Given the description of an element on the screen output the (x, y) to click on. 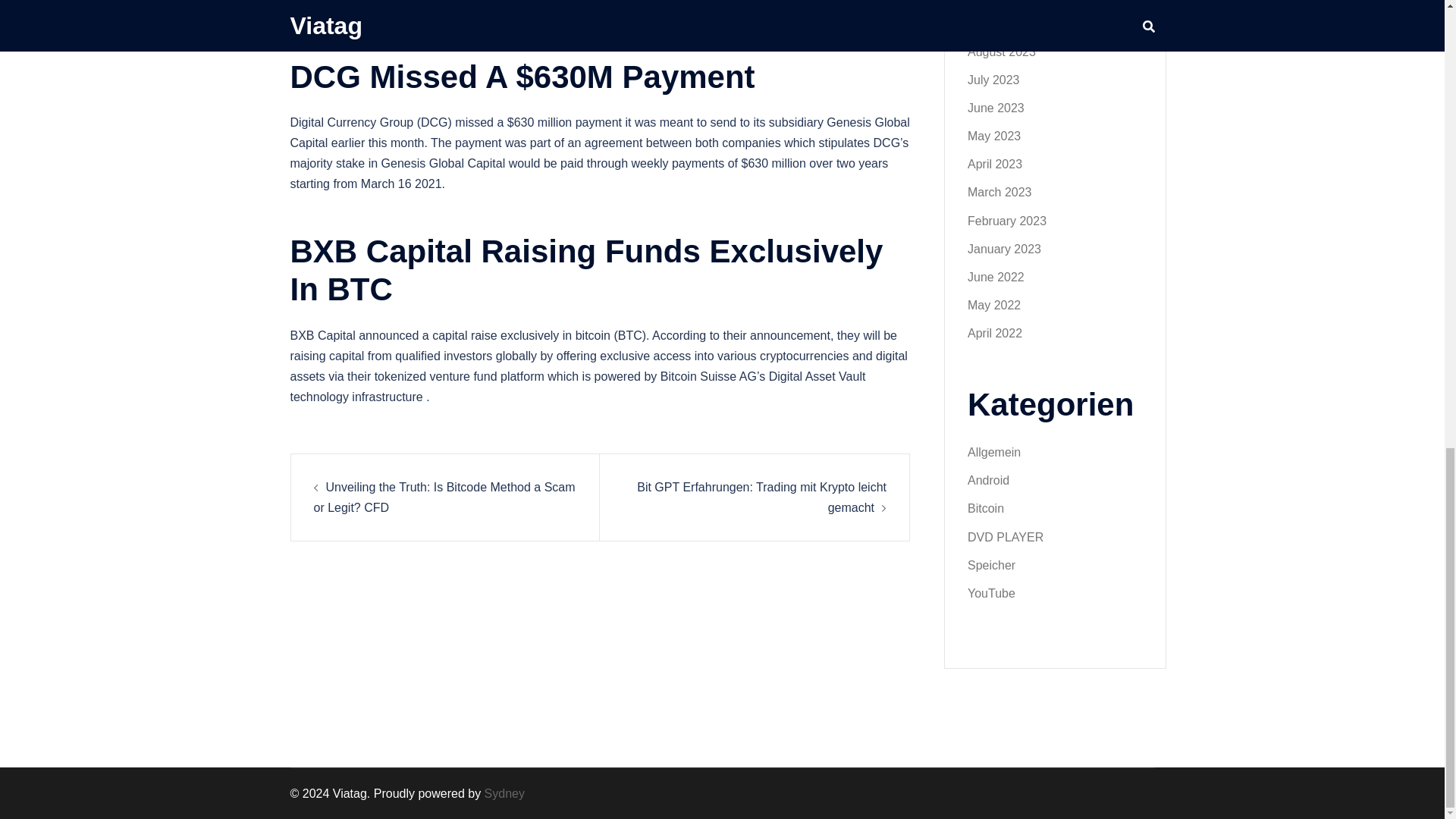
March 2023 (1000, 192)
May 2023 (994, 135)
June 2023 (996, 107)
April 2023 (995, 164)
April 2022 (995, 332)
February 2023 (1007, 220)
January 2023 (1004, 248)
September 2023 (1012, 22)
July 2023 (994, 79)
August 2023 (1001, 51)
Android (988, 480)
Bitcoin (986, 508)
October 2023 (1004, 0)
May 2022 (994, 305)
June 2022 (996, 277)
